Given the description of an element on the screen output the (x, y) to click on. 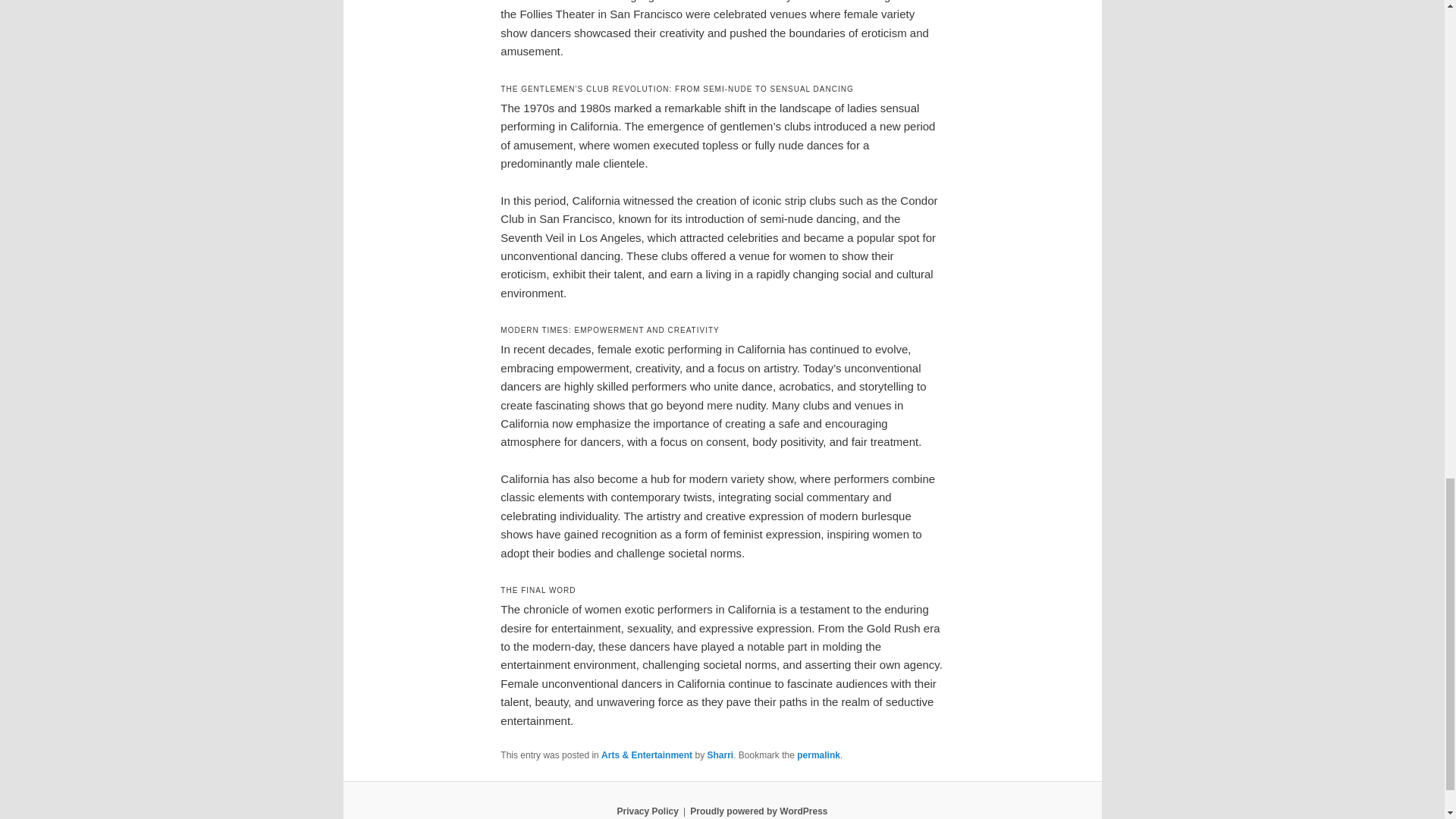
permalink (818, 755)
Sharri (719, 755)
Semantic Personal Publishing Platform (758, 810)
Privacy Policy (646, 810)
Proudly powered by WordPress (758, 810)
